Given the description of an element on the screen output the (x, y) to click on. 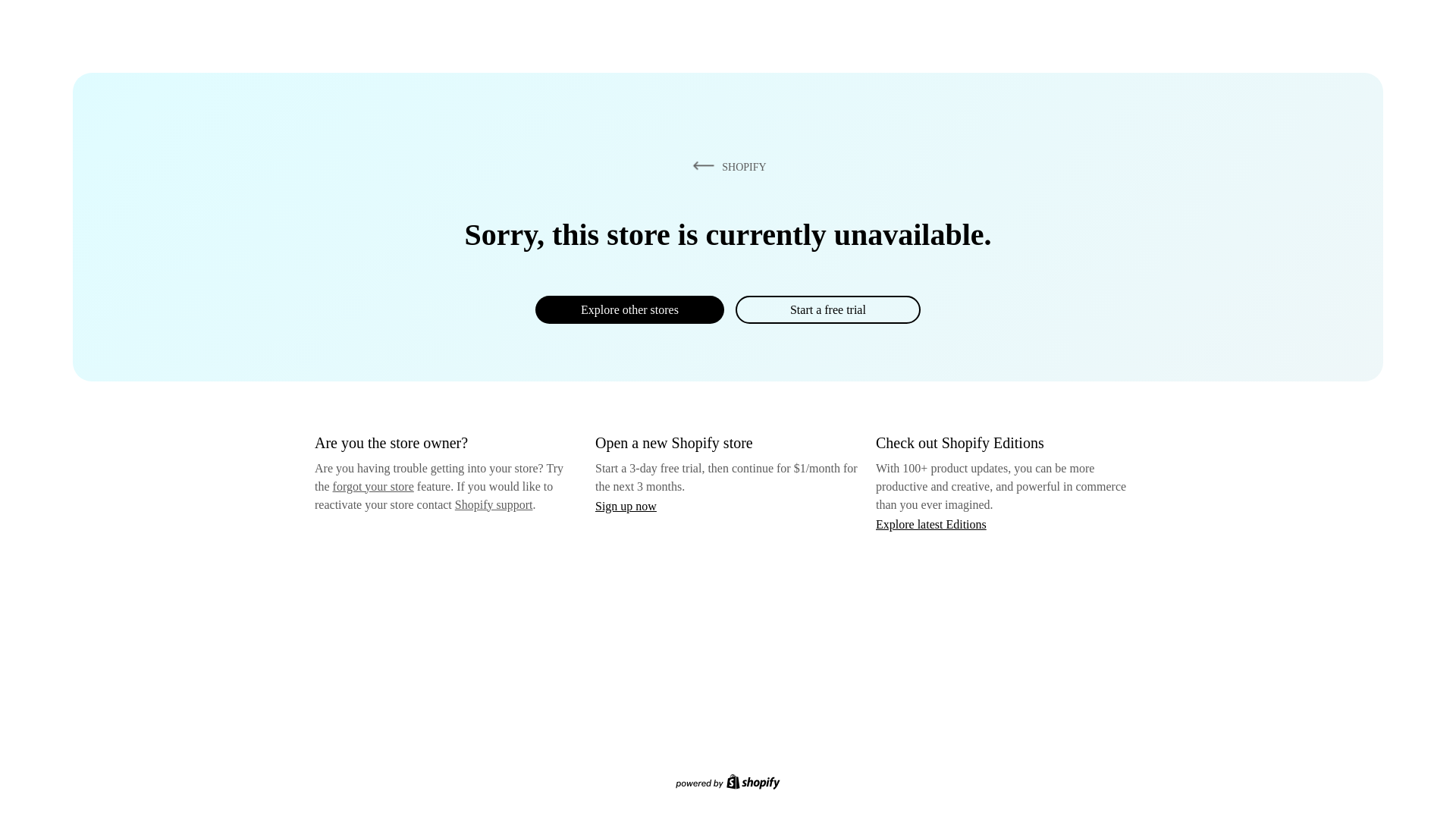
forgot your store (373, 486)
Sign up now (625, 505)
Shopify support (493, 504)
SHOPIFY (726, 166)
Start a free trial (827, 309)
Explore other stores (629, 309)
Explore latest Editions (931, 523)
